Given the description of an element on the screen output the (x, y) to click on. 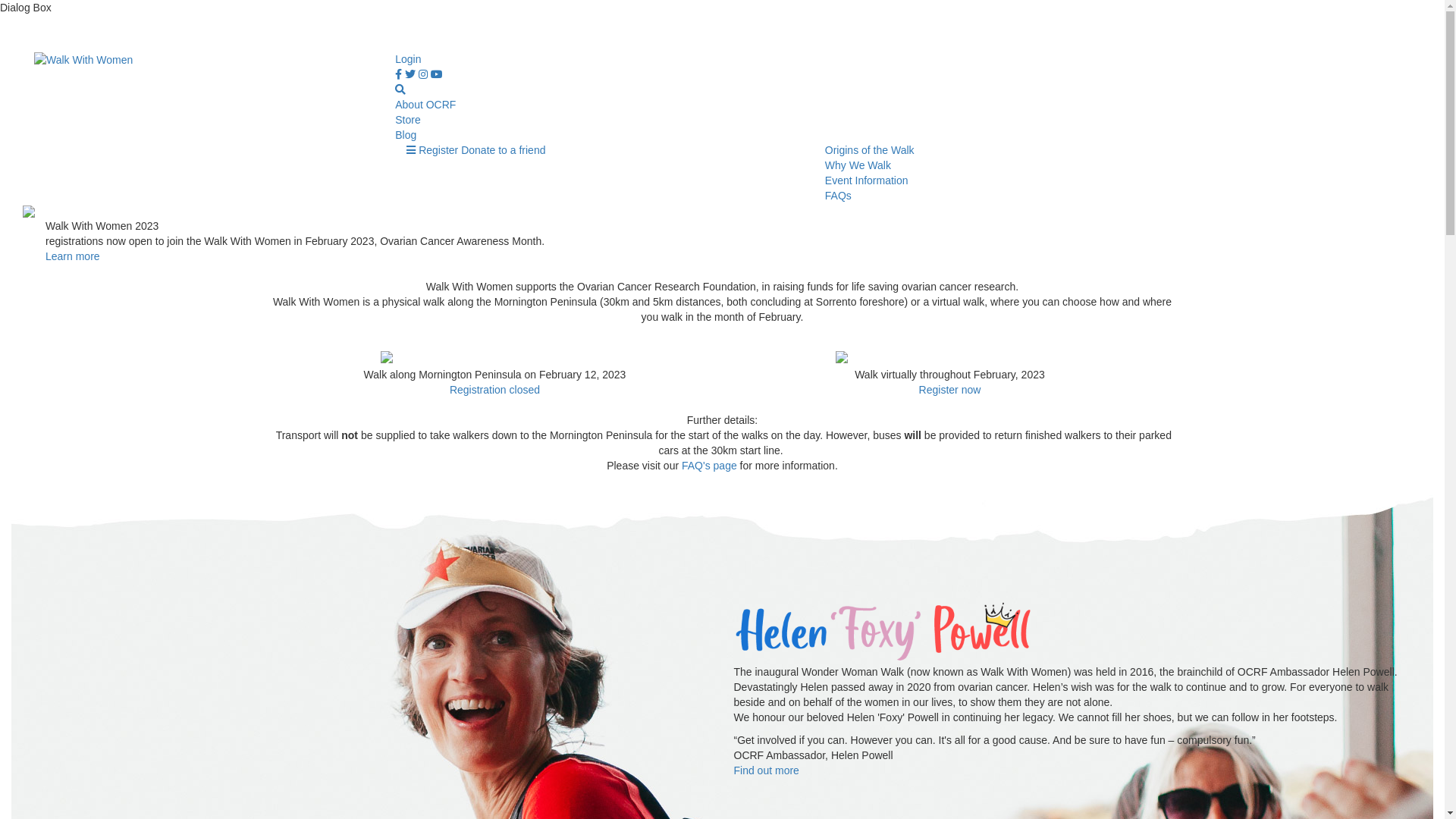
Why We Walk Element type: text (858, 165)
About OCRF Element type: text (425, 104)
FAQs Element type: text (838, 195)
Learn more Element type: text (72, 256)
Donate to a friend Element type: text (503, 150)
Register now Element type: text (950, 389)
Blog Element type: text (405, 134)
Origins of the Walk Element type: text (869, 150)
Find out more Element type: text (766, 770)
Login Element type: text (407, 59)
Event Information Element type: text (866, 180)
FAQ's page Element type: text (709, 465)
Store Element type: text (407, 119)
Registration closed Element type: text (494, 389)
Register Element type: text (438, 150)
